Given the description of an element on the screen output the (x, y) to click on. 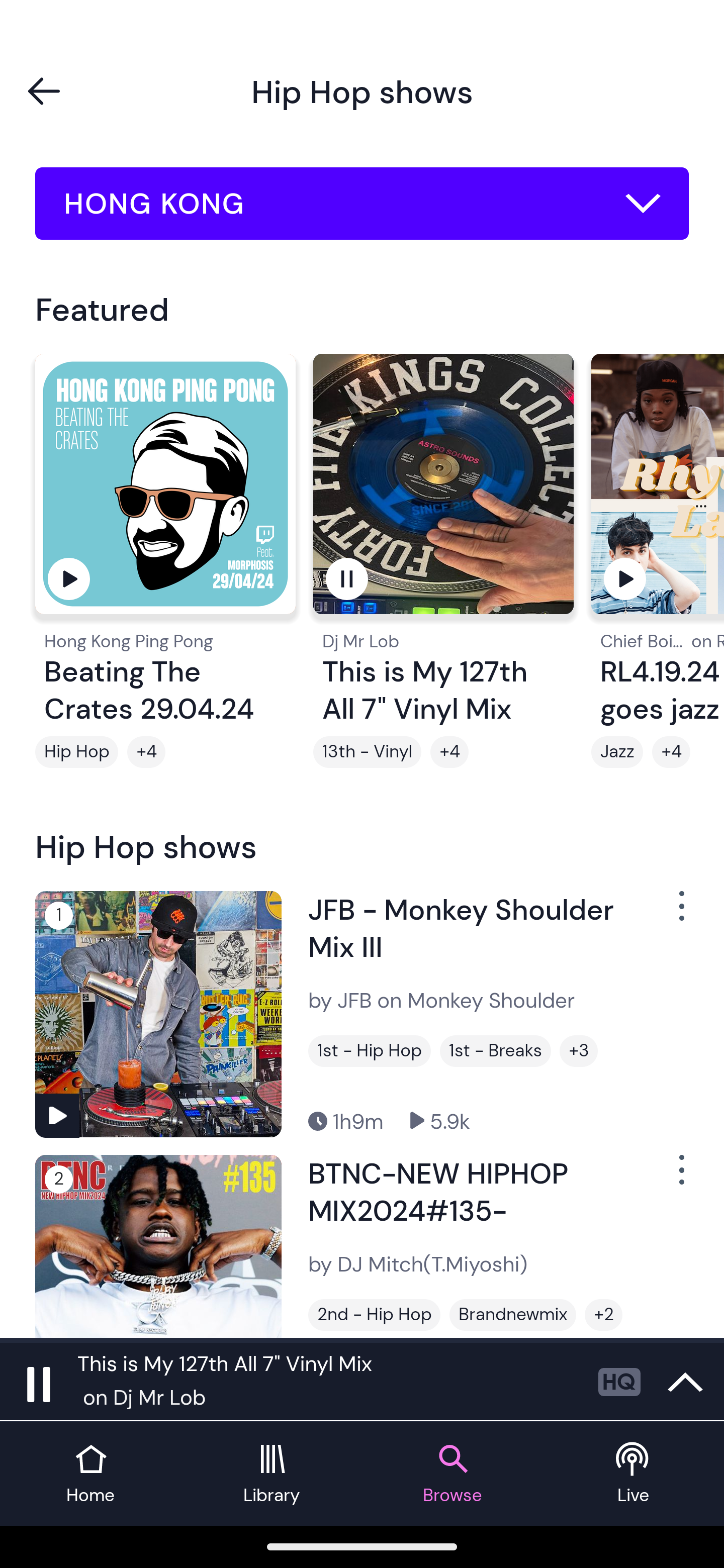
HONG KONG (361, 203)
Hip Hop (76, 752)
13th - Vinyl (367, 752)
Jazz (616, 752)
Show Options Menu Button (679, 913)
1st - Hip Hop (369, 1050)
1st - Breaks (495, 1050)
Show Options Menu Button (679, 1178)
2nd - Hip Hop (374, 1315)
Brandnewmix (512, 1315)
Home tab Home (90, 1473)
Library tab Library (271, 1473)
Browse tab Browse (452, 1473)
Live tab Live (633, 1473)
